Given the description of an element on the screen output the (x, y) to click on. 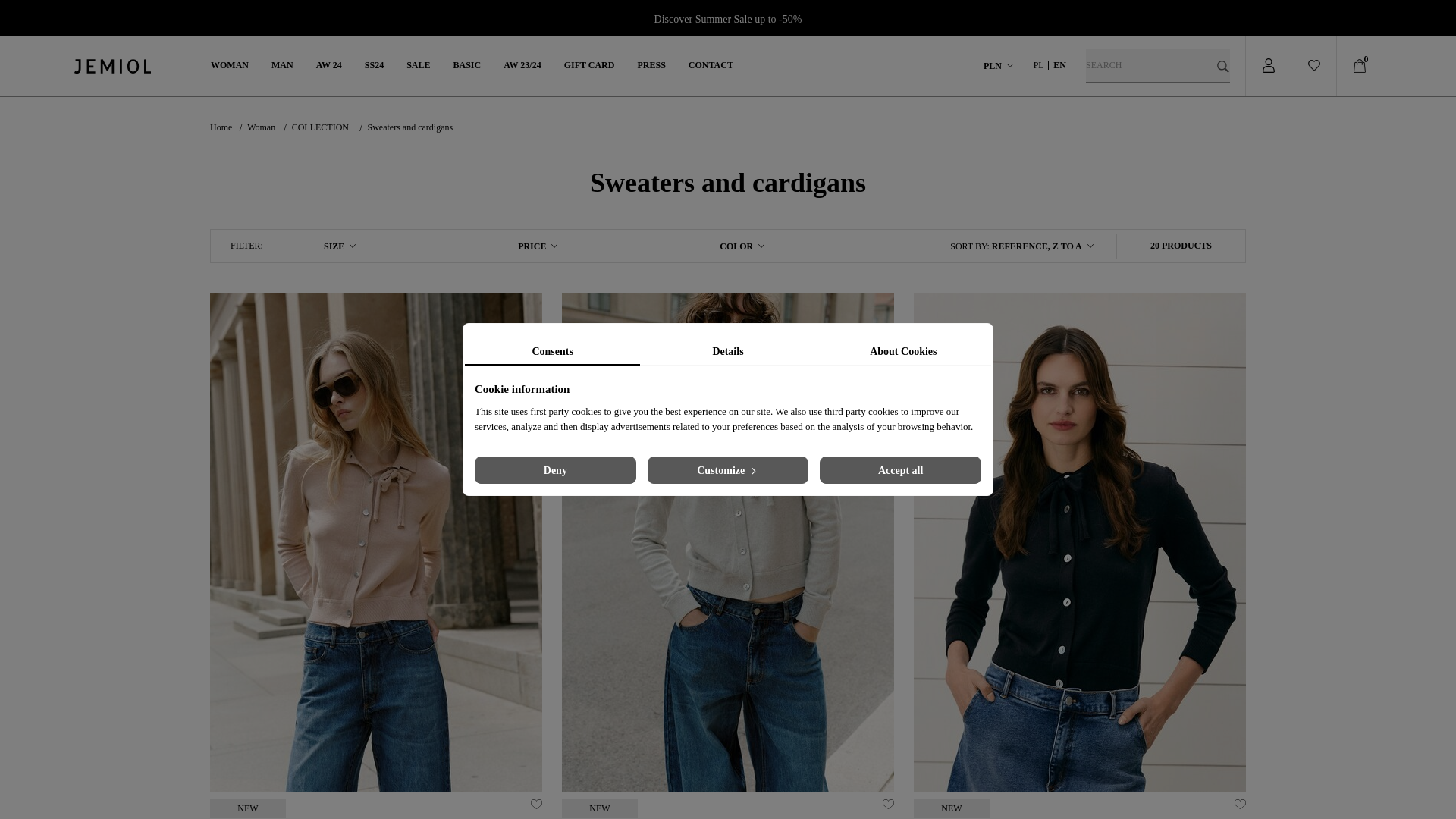
SS24 (374, 65)
AW 24 (328, 65)
BASIC (466, 65)
Woman (229, 65)
SALE (417, 65)
WOMAN (229, 65)
MAN (282, 65)
